Given the description of an element on the screen output the (x, y) to click on. 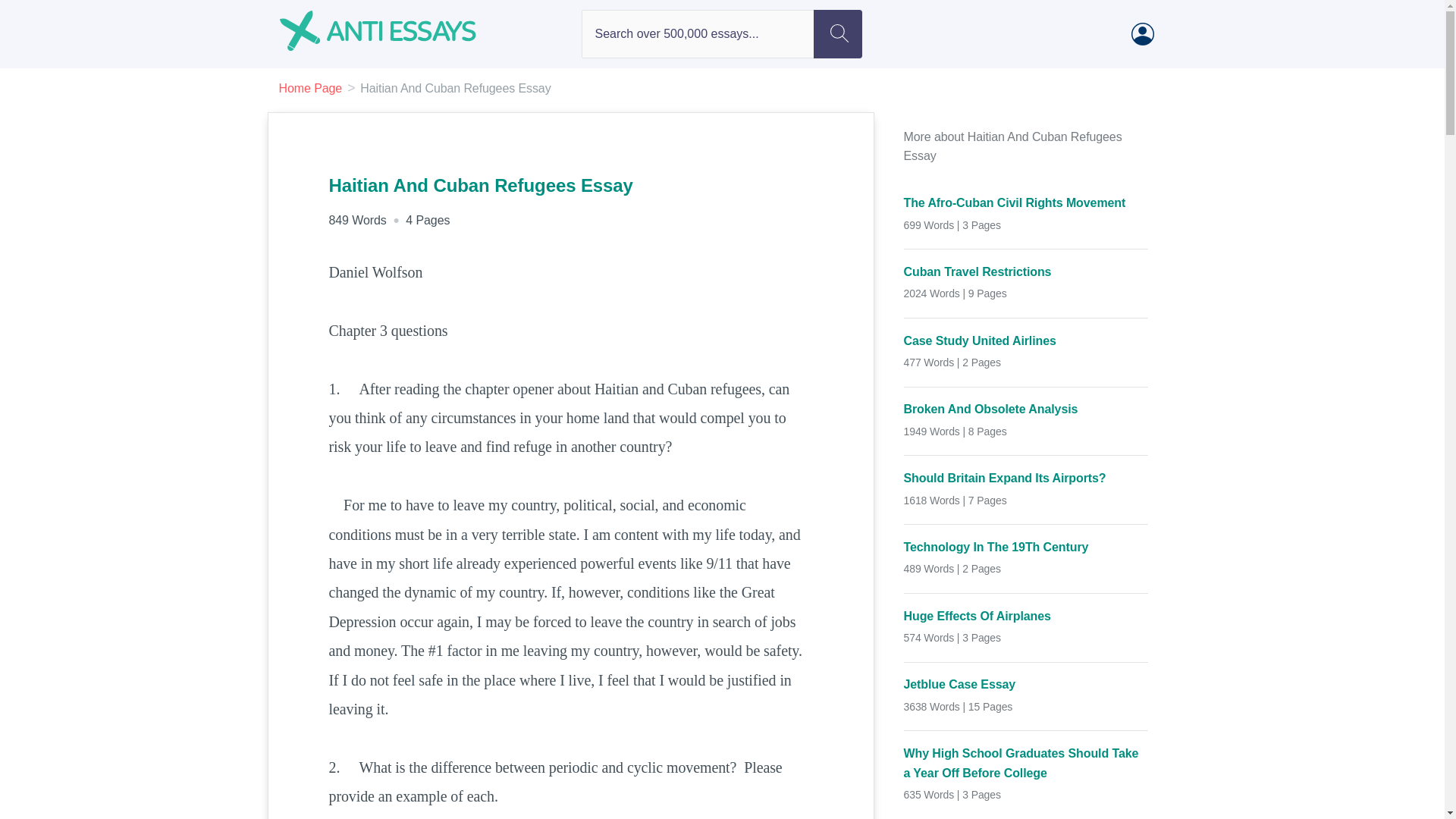
Huge Effects Of Airplanes (1026, 616)
Should Britain Expand Its Airports? (1026, 478)
The Afro-Cuban Civil Rights Movement (1026, 202)
Technology In The 19Th Century (1026, 547)
Jetblue Case Essay (1026, 684)
Cuban Travel Restrictions (1026, 271)
Broken And Obsolete Analysis (1026, 409)
Home Page (310, 88)
Case Study United Airlines (1026, 341)
